Given the description of an element on the screen output the (x, y) to click on. 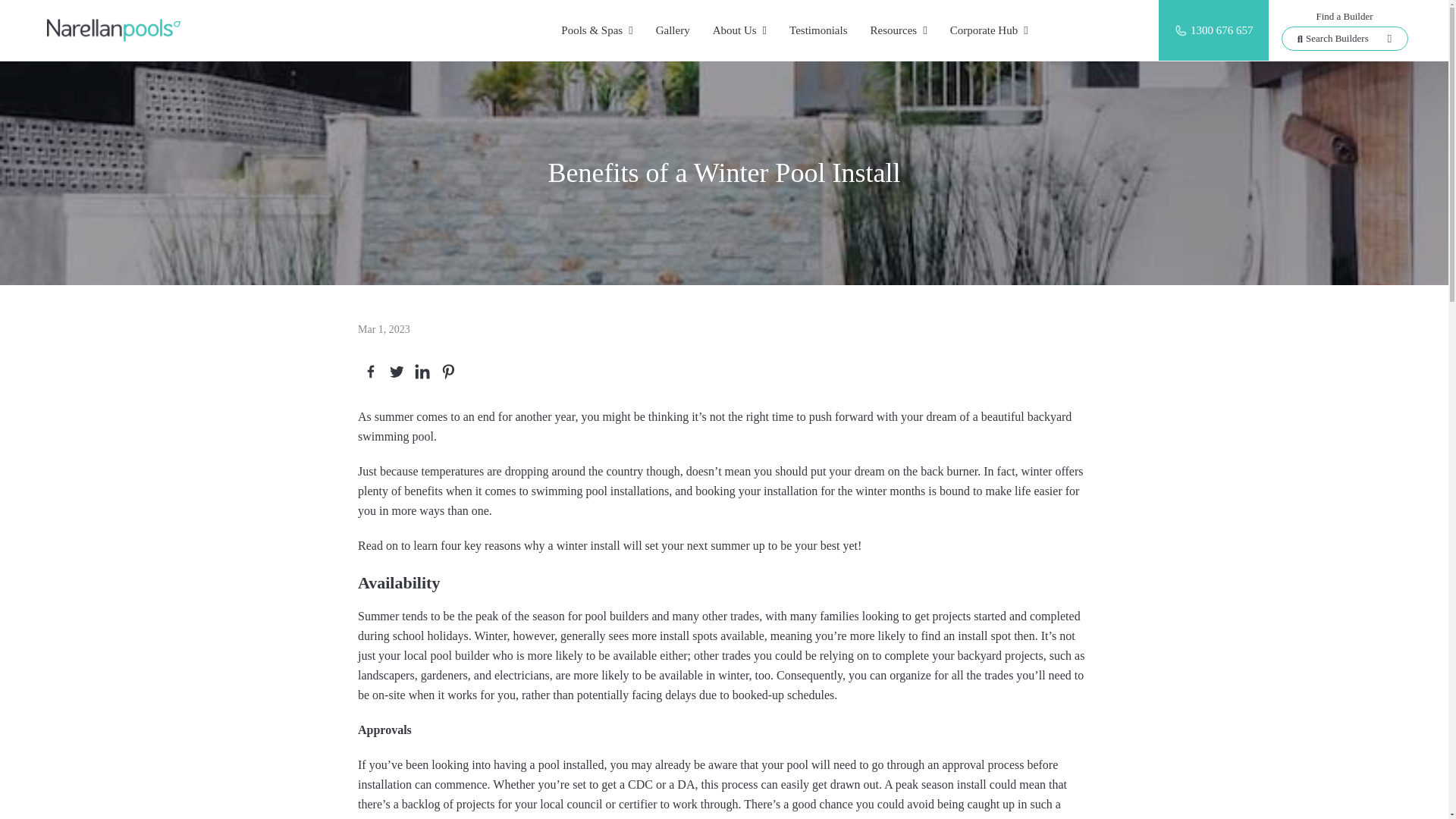
Pinterest (448, 371)
1300 676 657 (1222, 29)
Facebook (370, 371)
Testimonials (818, 30)
Narellan Pools (82, 29)
Corporate Hub (989, 30)
Linkedin (421, 371)
Search Builders (1344, 38)
Resources (898, 30)
Gallery (673, 30)
Twitter (396, 371)
About Us (739, 30)
